Given the description of an element on the screen output the (x, y) to click on. 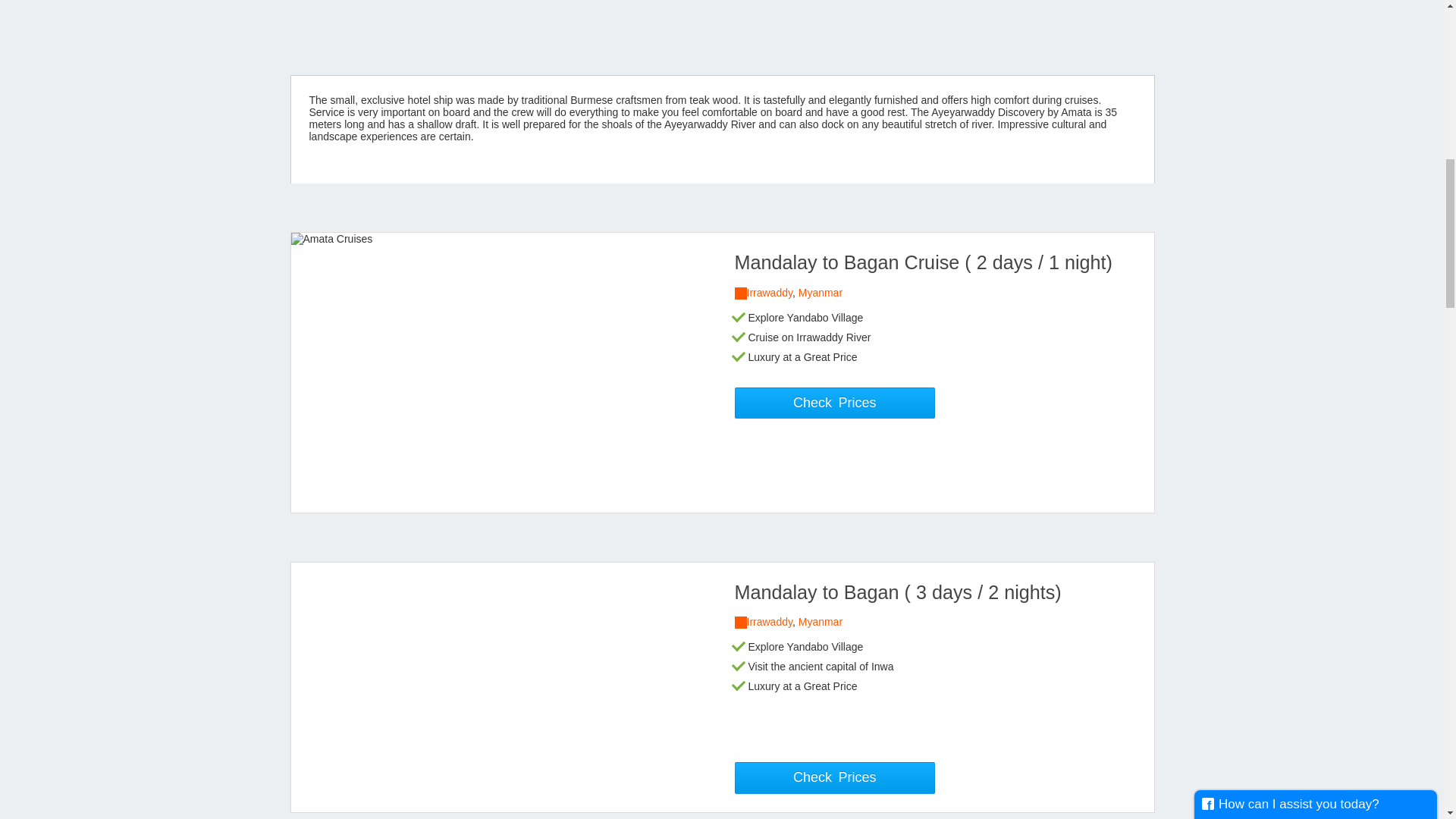
Myanmar (820, 292)
Irrawaddy (768, 621)
Irrawaddy (768, 292)
Myanmar (820, 621)
Check Prices (833, 403)
Check Prices (833, 777)
